Given the description of an element on the screen output the (x, y) to click on. 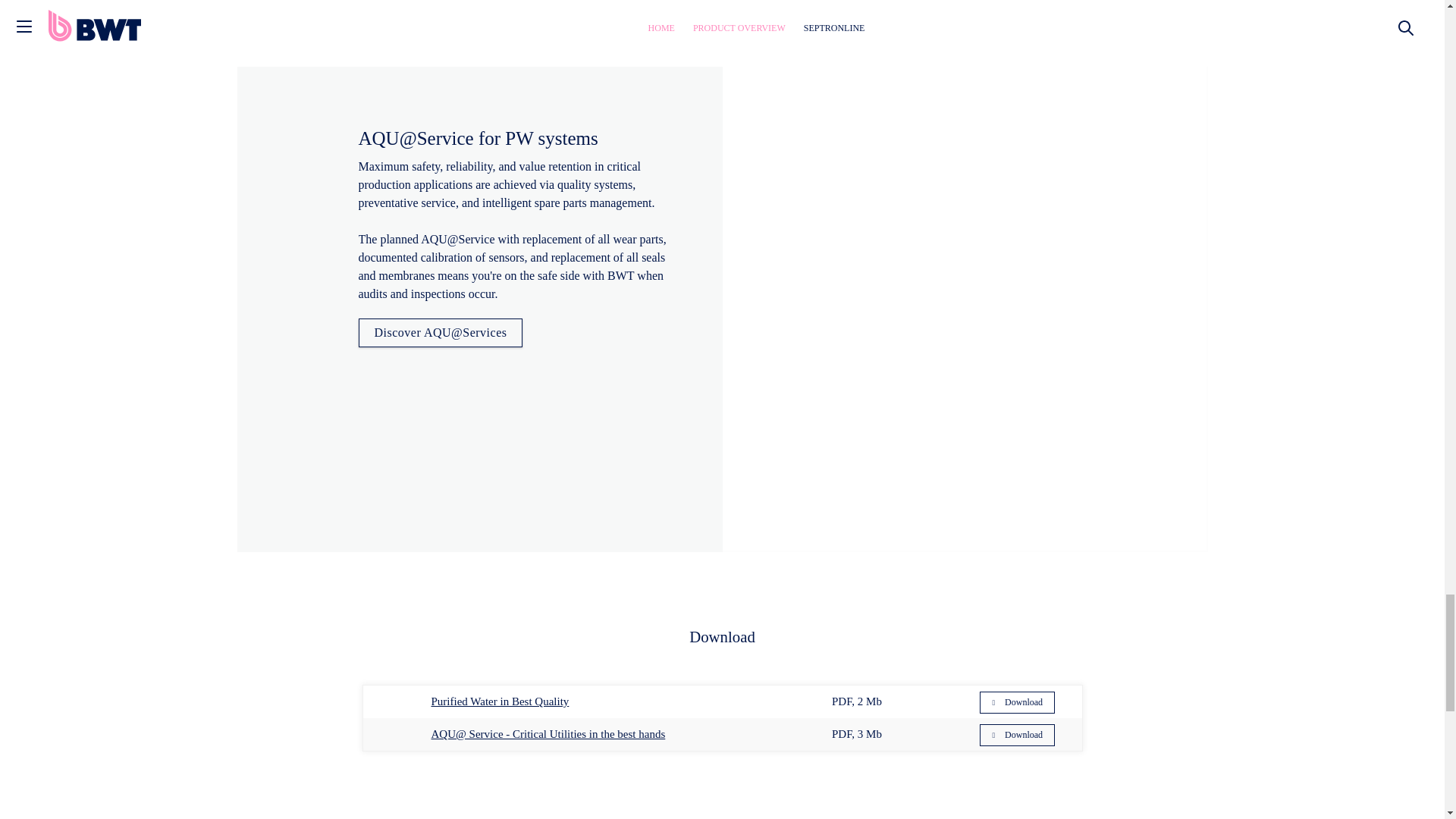
Purified Water in Best Quality (499, 701)
Download (1016, 734)
Download (1016, 702)
